Given the description of an element on the screen output the (x, y) to click on. 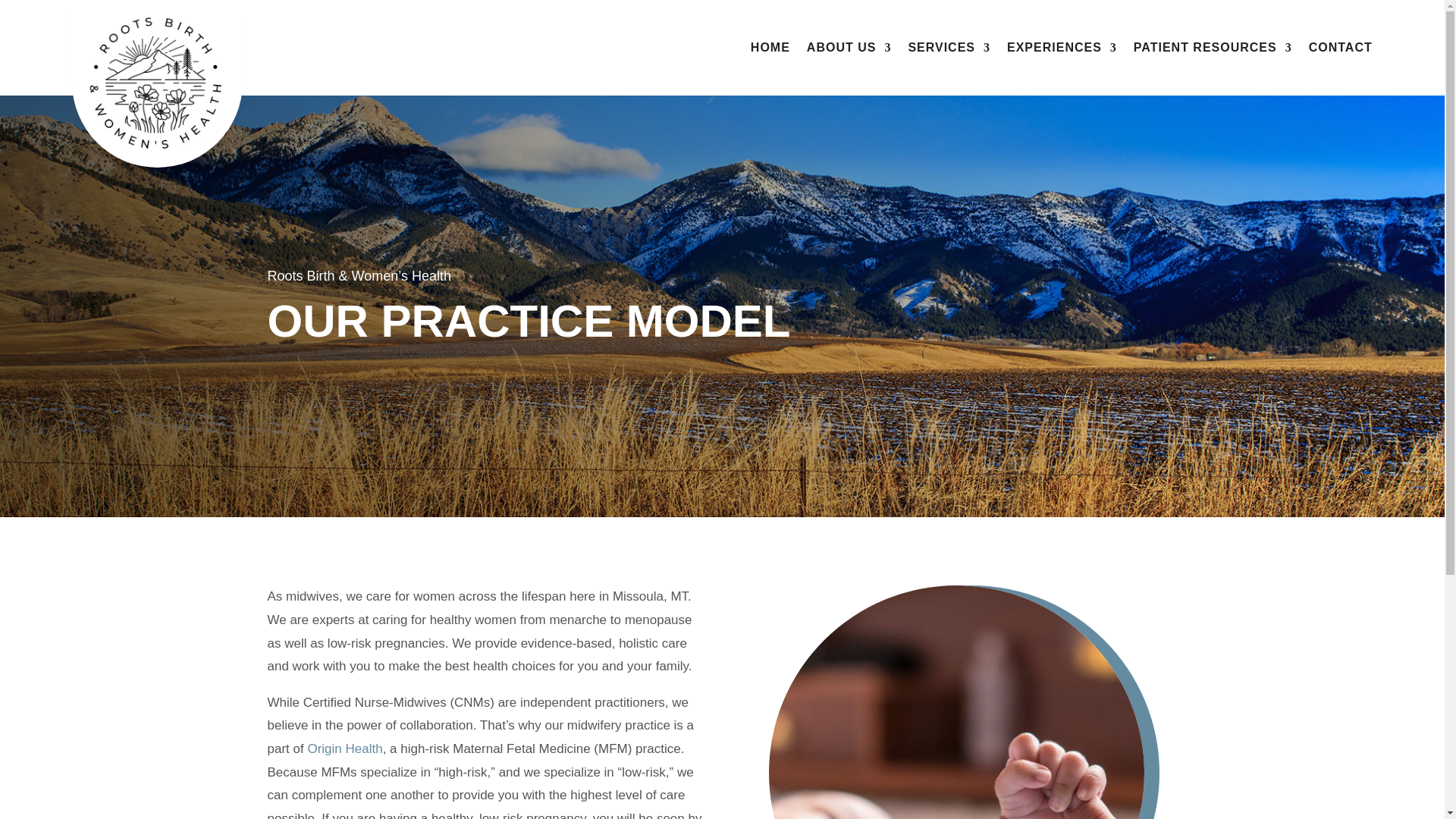
EXPERIENCES (1061, 50)
ABOUT US (848, 50)
PATIENT RESOURCES (1213, 50)
rootbirth-logo (157, 83)
SERVICES (948, 50)
HOME (770, 50)
baby-2 (956, 702)
CONTACT (1340, 50)
Origin Health (344, 748)
